Given the description of an element on the screen output the (x, y) to click on. 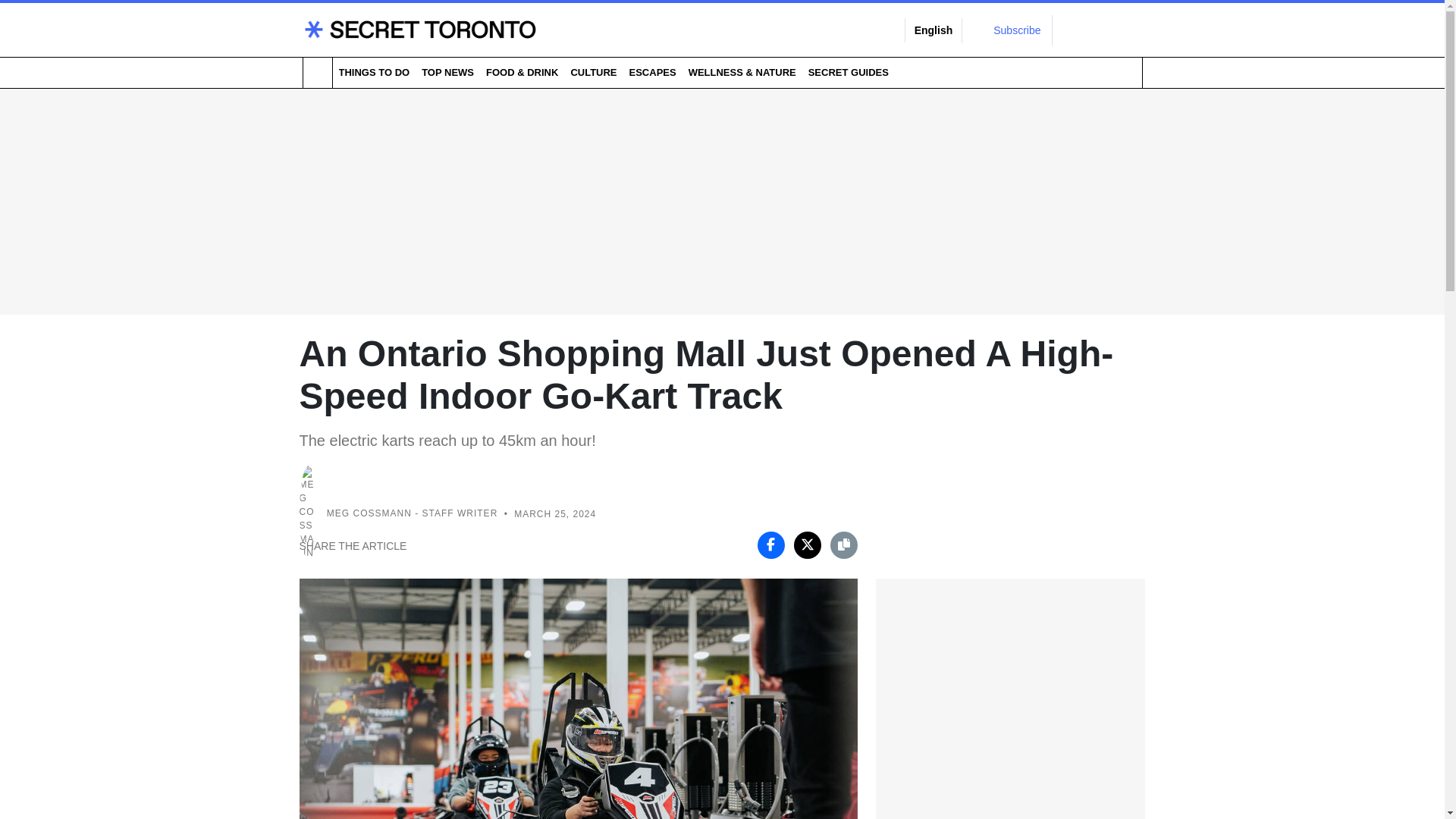
CULTURE (592, 72)
THINGS TO DO (373, 72)
MEG COSSMANN (369, 513)
TOP NEWS (448, 72)
SECRET GUIDES (848, 72)
ESCAPES (652, 72)
English (933, 29)
